Given the description of an element on the screen output the (x, y) to click on. 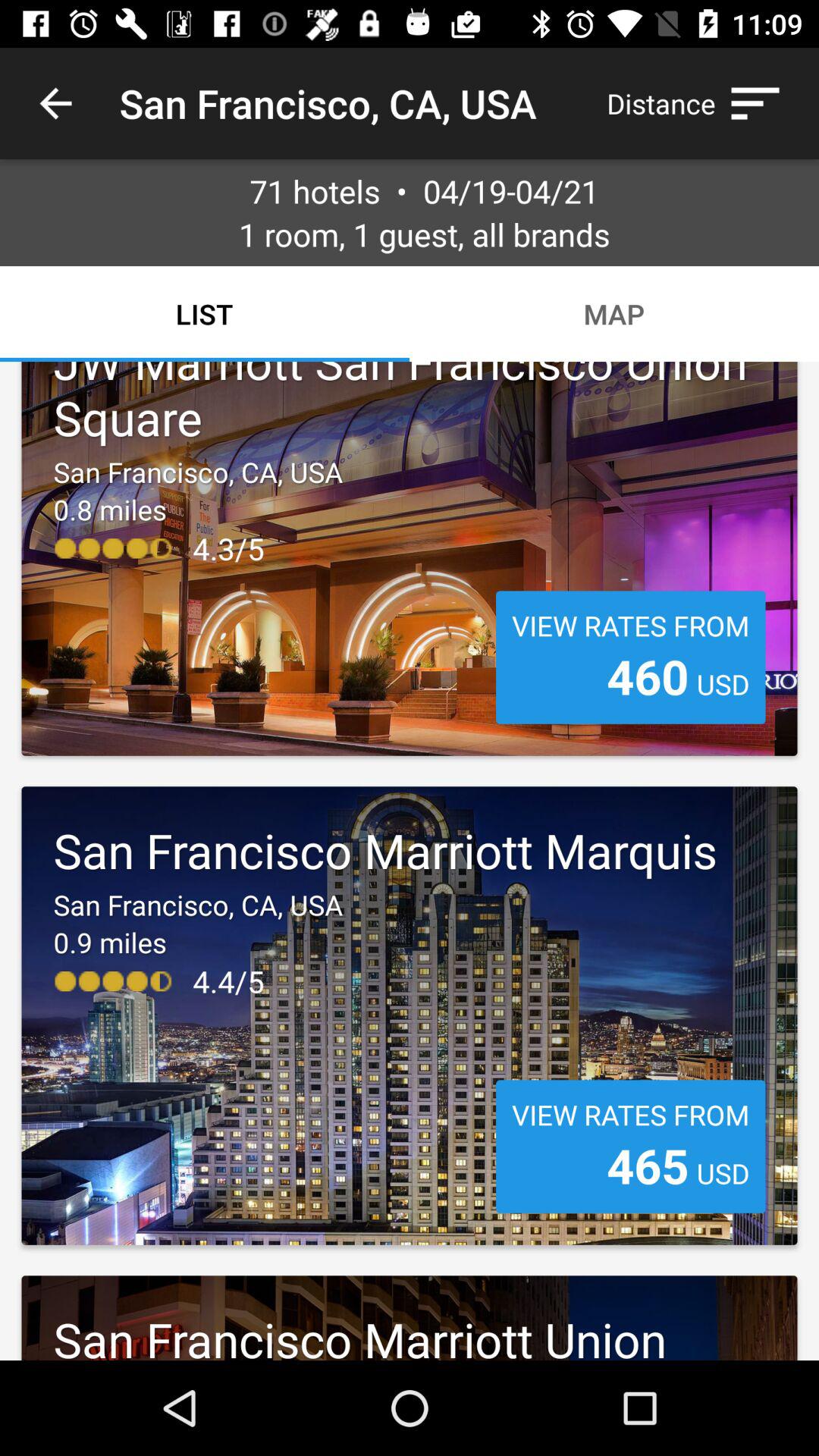
scroll to distance (700, 103)
